Given the description of an element on the screen output the (x, y) to click on. 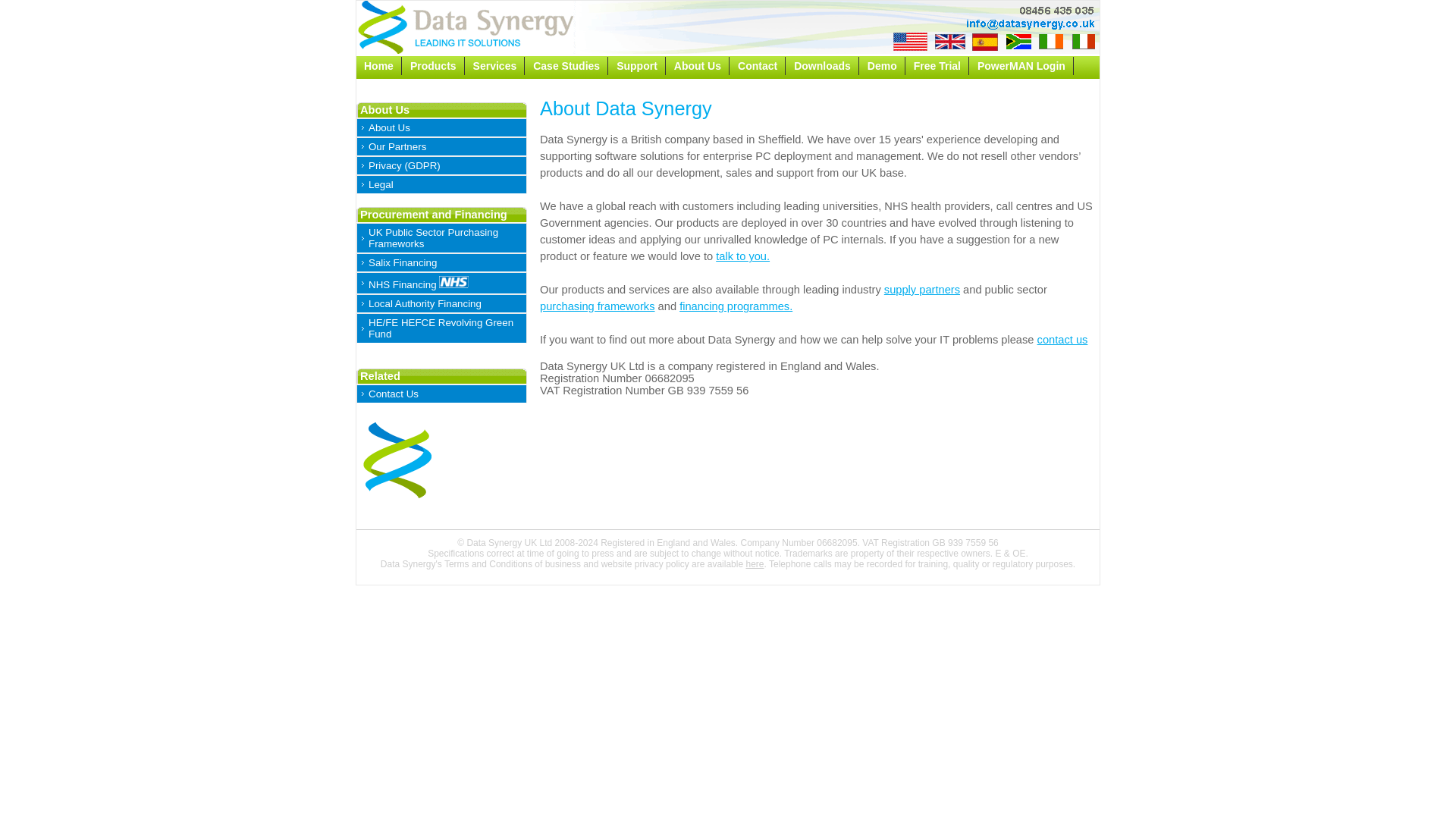
Services (495, 65)
PowerMAN Login (1021, 65)
btnDisplayInfoProxy (50, 7)
Support (636, 65)
Free Trial (937, 65)
Case Studies (566, 65)
supply partners (921, 289)
Contact (758, 65)
Demo (882, 65)
Products (433, 65)
About Us (697, 65)
Home (378, 65)
talk to you. (743, 256)
Downloads (822, 65)
